Given the description of an element on the screen output the (x, y) to click on. 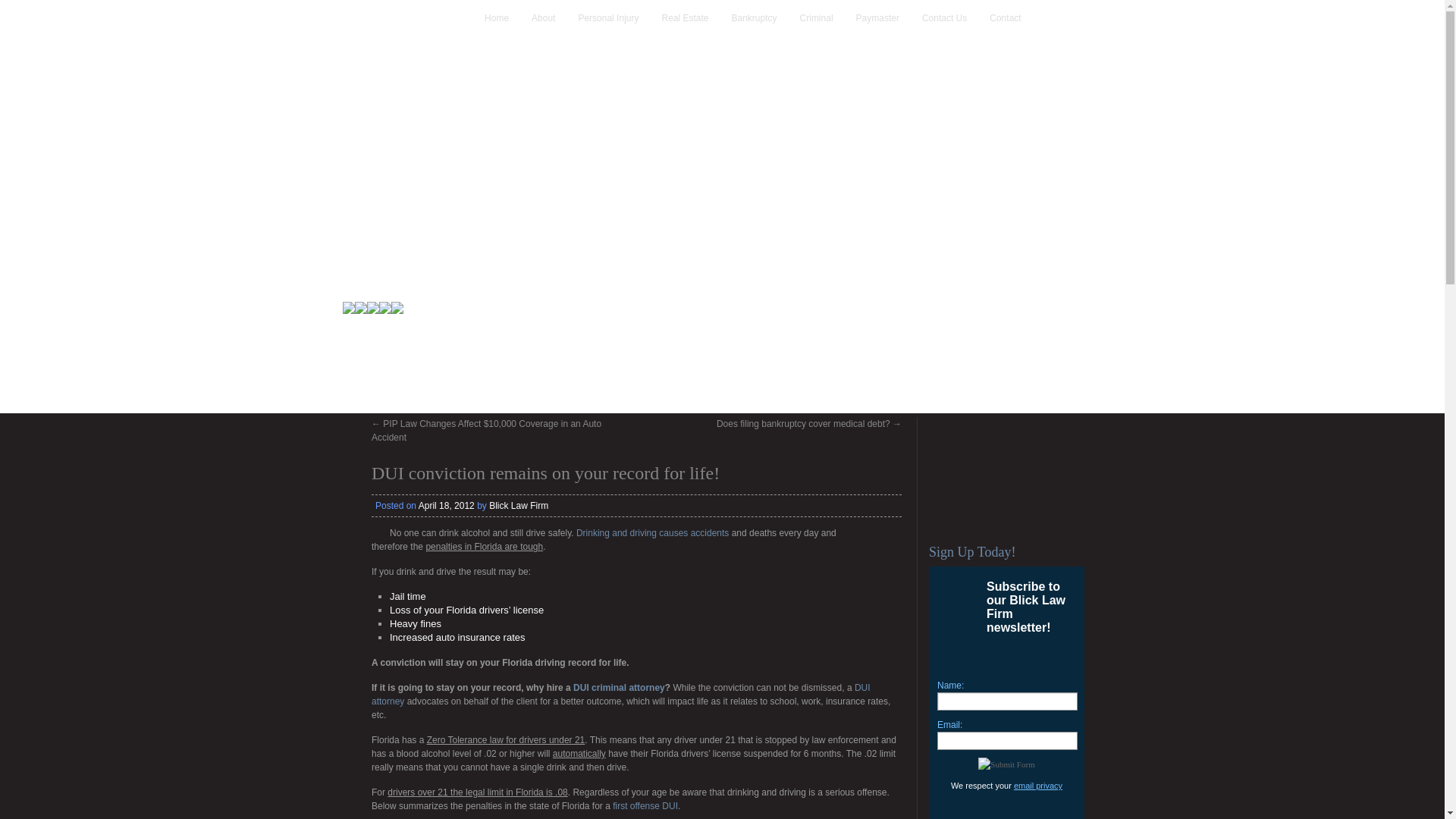
Criminal (816, 18)
Real Estate (684, 18)
Contact (1004, 18)
Paymaster (877, 18)
Personal Injury (608, 18)
9:15 pm (446, 505)
Bankruptcy (753, 18)
Contact Us (944, 18)
Home (496, 18)
About (543, 18)
